Given the description of an element on the screen output the (x, y) to click on. 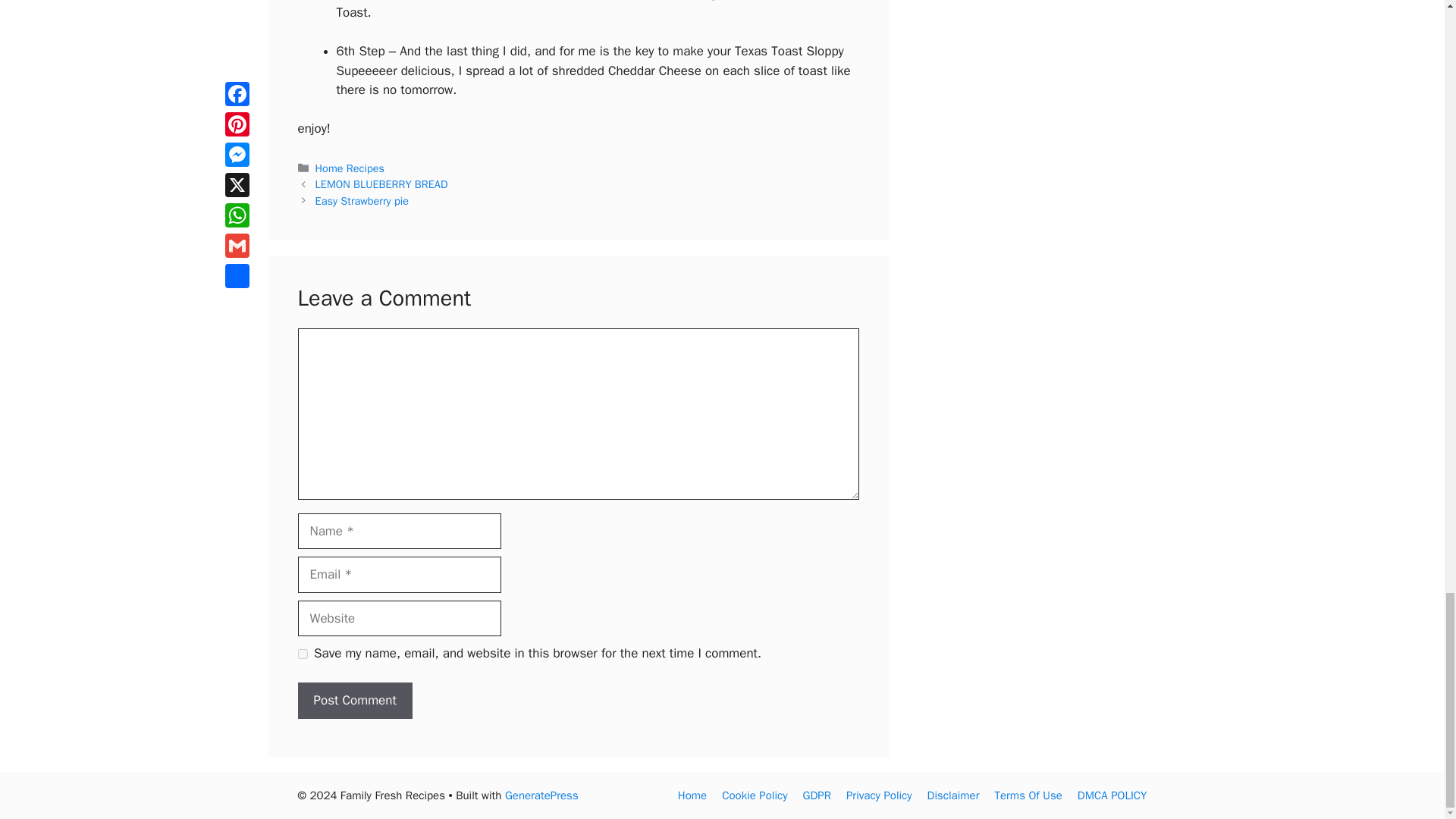
Post Comment (354, 700)
Easy Strawberry pie (362, 201)
LEMON BLUEBERRY BREAD (381, 183)
Home Recipes (349, 168)
Post Comment (354, 700)
yes (302, 654)
